Given the description of an element on the screen output the (x, y) to click on. 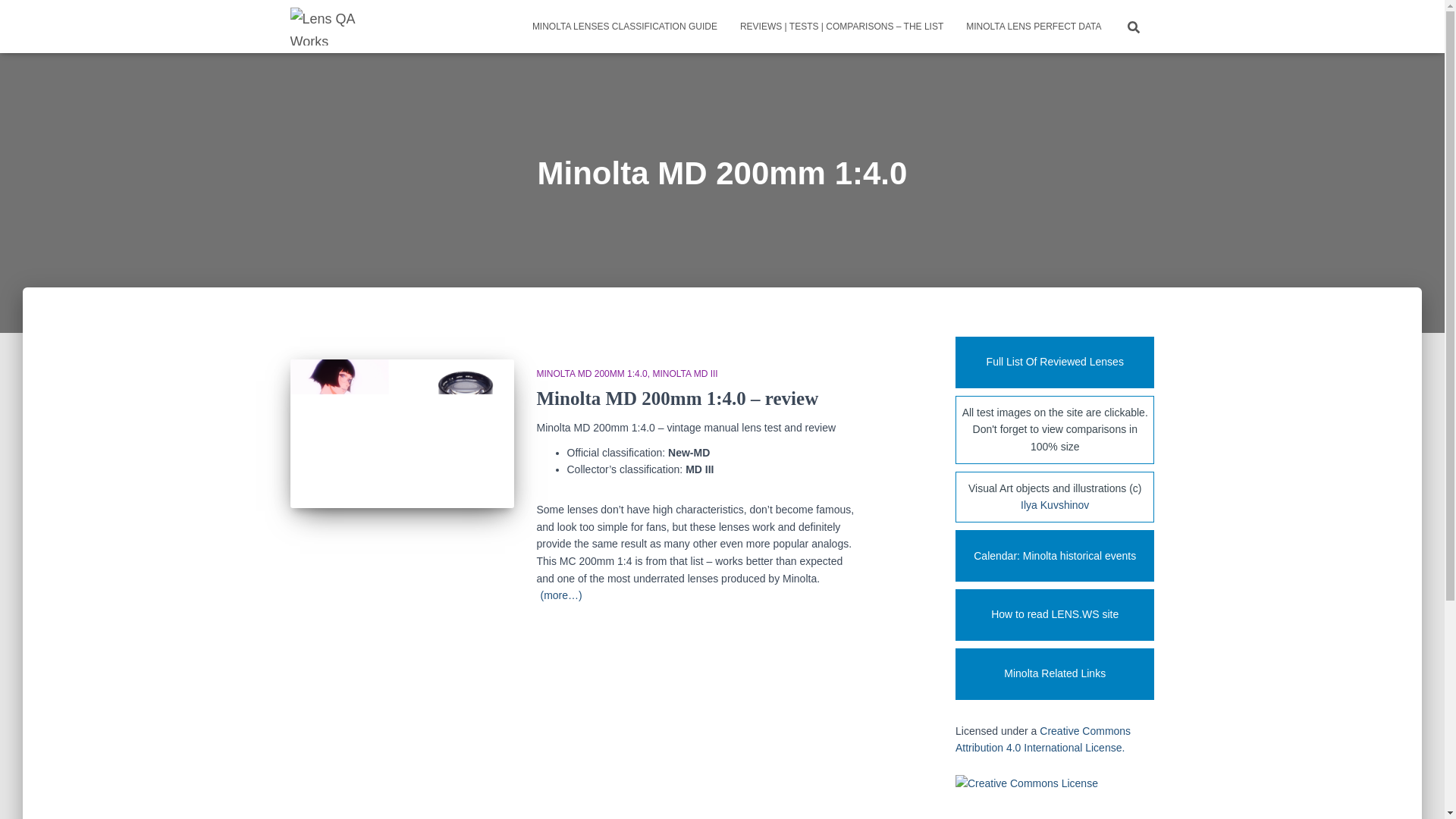
Minolta Related Links (1054, 674)
View all posts in Minolta MD 200mm 1:4.0 (594, 373)
View all posts in Minolta MD III (684, 373)
Full List Of Reviewed Lenses (1054, 362)
Creative Commons Attribution 4.0 International License. (1043, 739)
MINOLTA LENS PERFECT DATA (1033, 26)
MINOLTA MD III (684, 373)
Lens QA Works (324, 26)
Ilya Kuvshinov (1054, 504)
Minolta Lens Perfect Data (1033, 26)
